Given the description of an element on the screen output the (x, y) to click on. 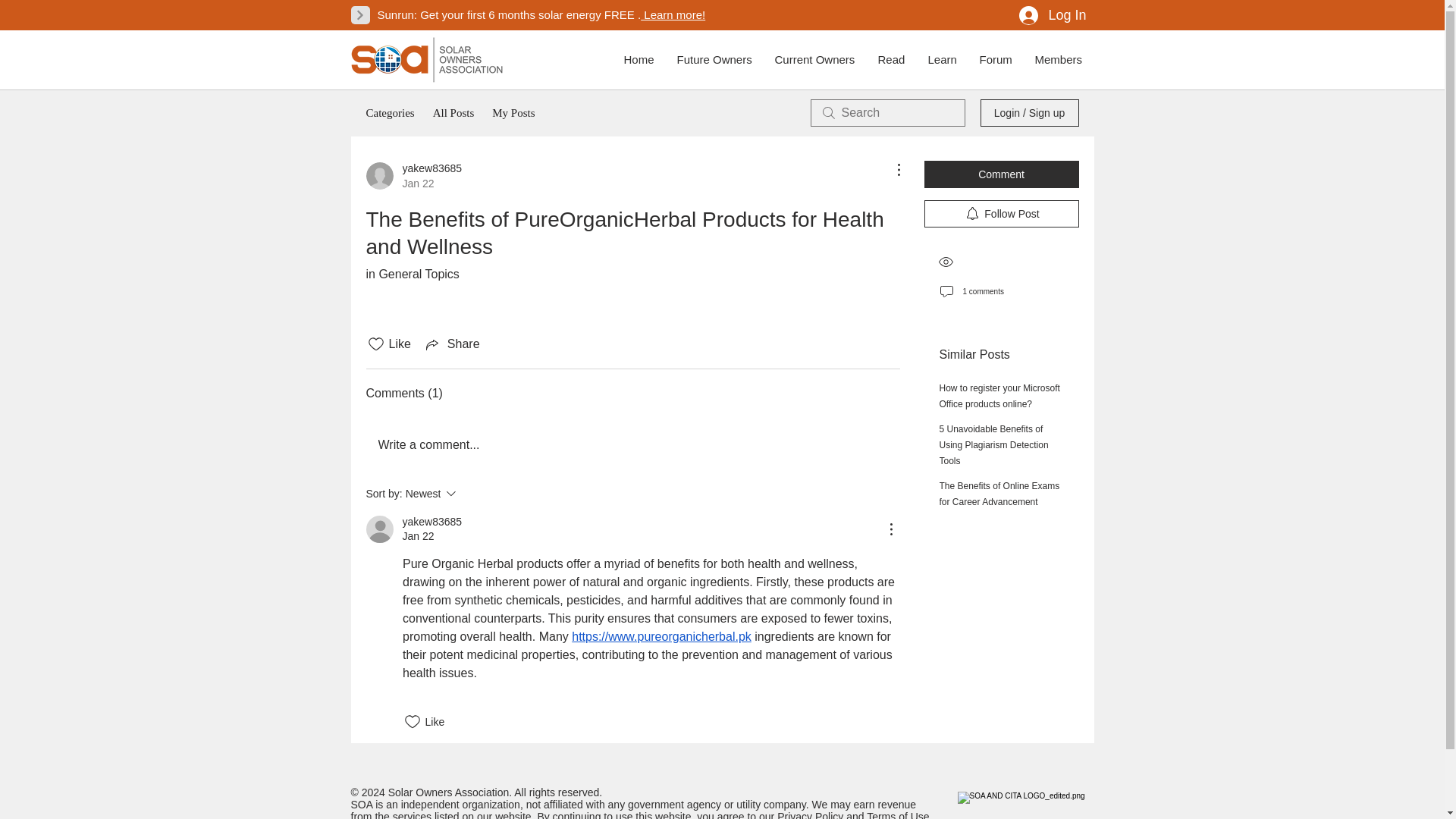
Write a comment... (632, 445)
Log In (413, 175)
Forum (1051, 15)
Learn (995, 59)
Comment (941, 59)
Follow Post (1000, 174)
Current Owners (1000, 213)
My Posts (814, 59)
Future Owners (513, 113)
